Given the description of an element on the screen output the (x, y) to click on. 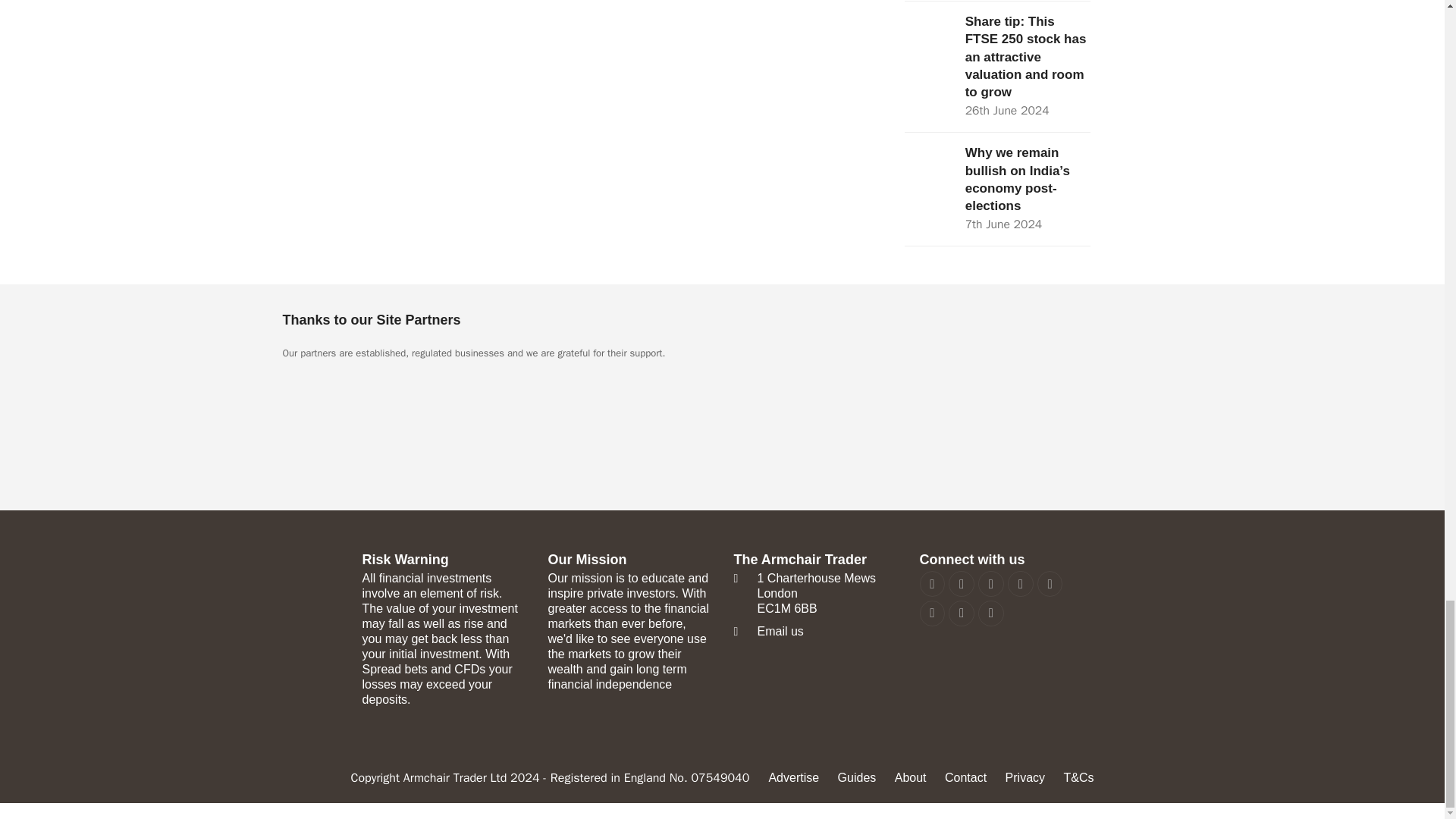
Facebook (961, 583)
Twitter (931, 583)
